Given the description of an element on the screen output the (x, y) to click on. 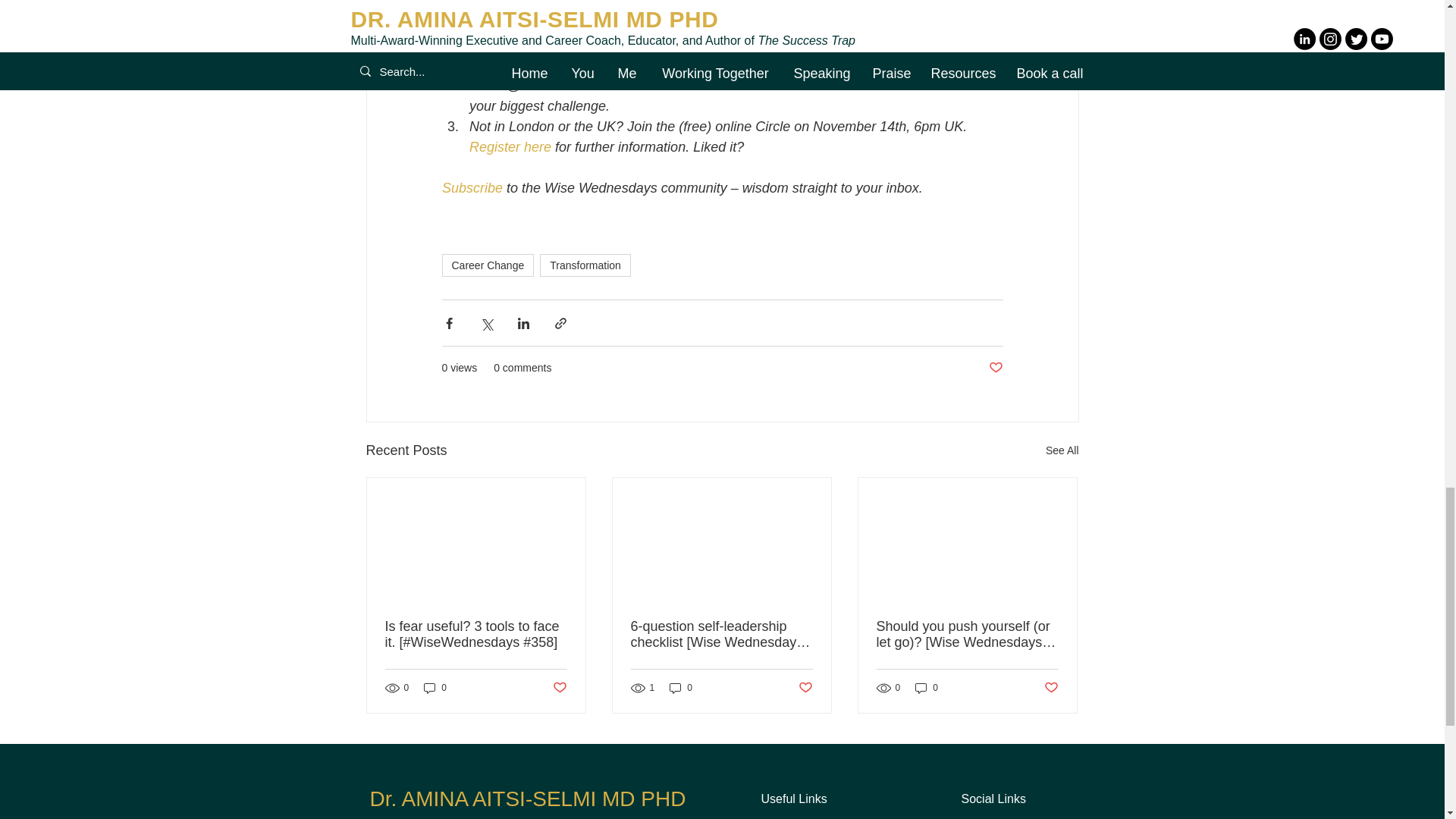
Career Change (487, 264)
Subscribe (471, 187)
Post not marked as liked (804, 688)
Sign up here (594, 23)
Register here (509, 146)
See All (1061, 450)
Post not marked as liked (558, 688)
0 (435, 687)
0 (681, 687)
Post not marked as liked (995, 367)
Transformation (585, 264)
